Given the description of an element on the screen output the (x, y) to click on. 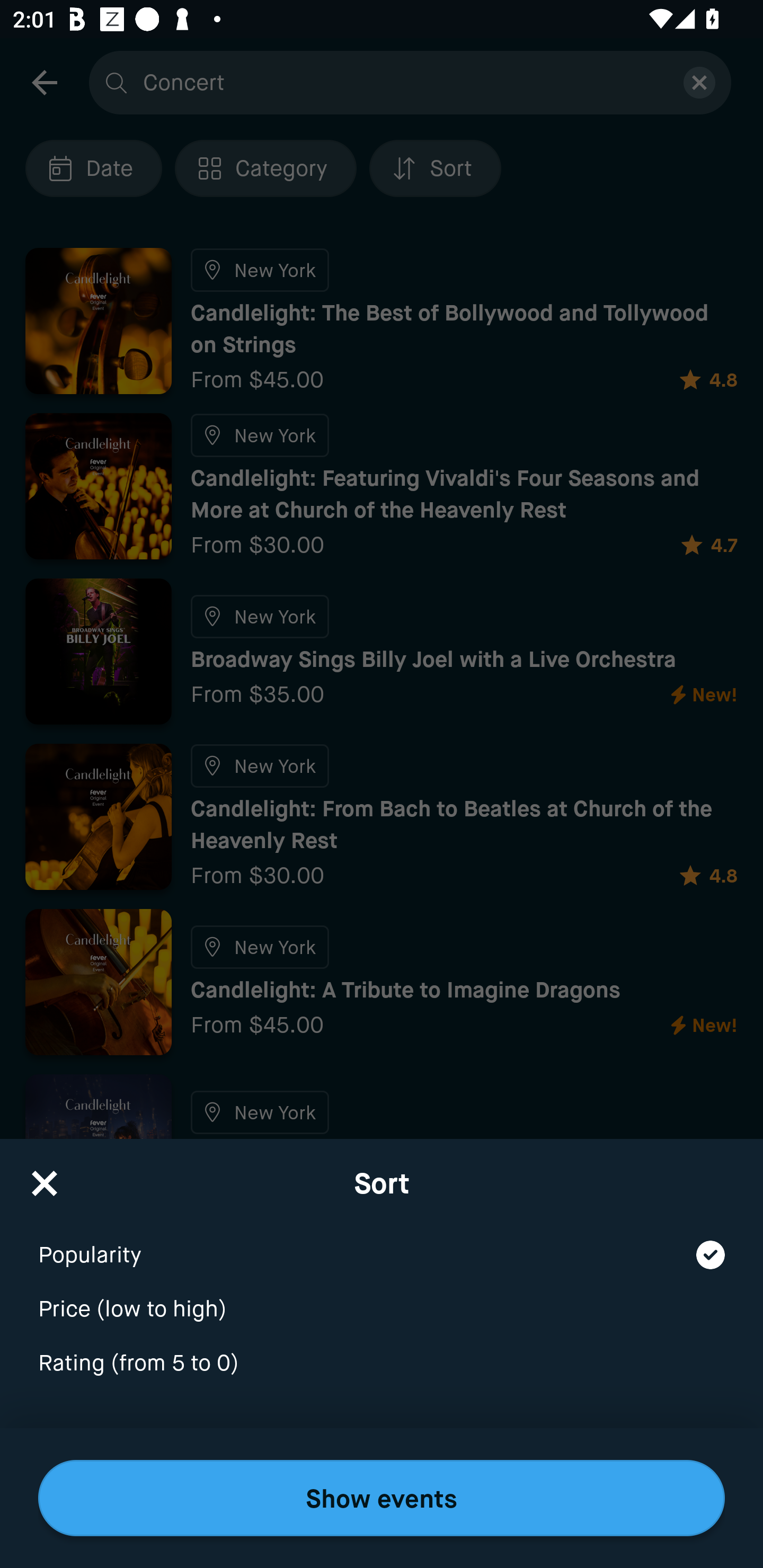
CloseButton (44, 1177)
Popularity Selected Icon (381, 1243)
Price (low to high) (381, 1297)
Rating (from 5 to 0) (381, 1362)
Show events (381, 1497)
